Given the description of an element on the screen output the (x, y) to click on. 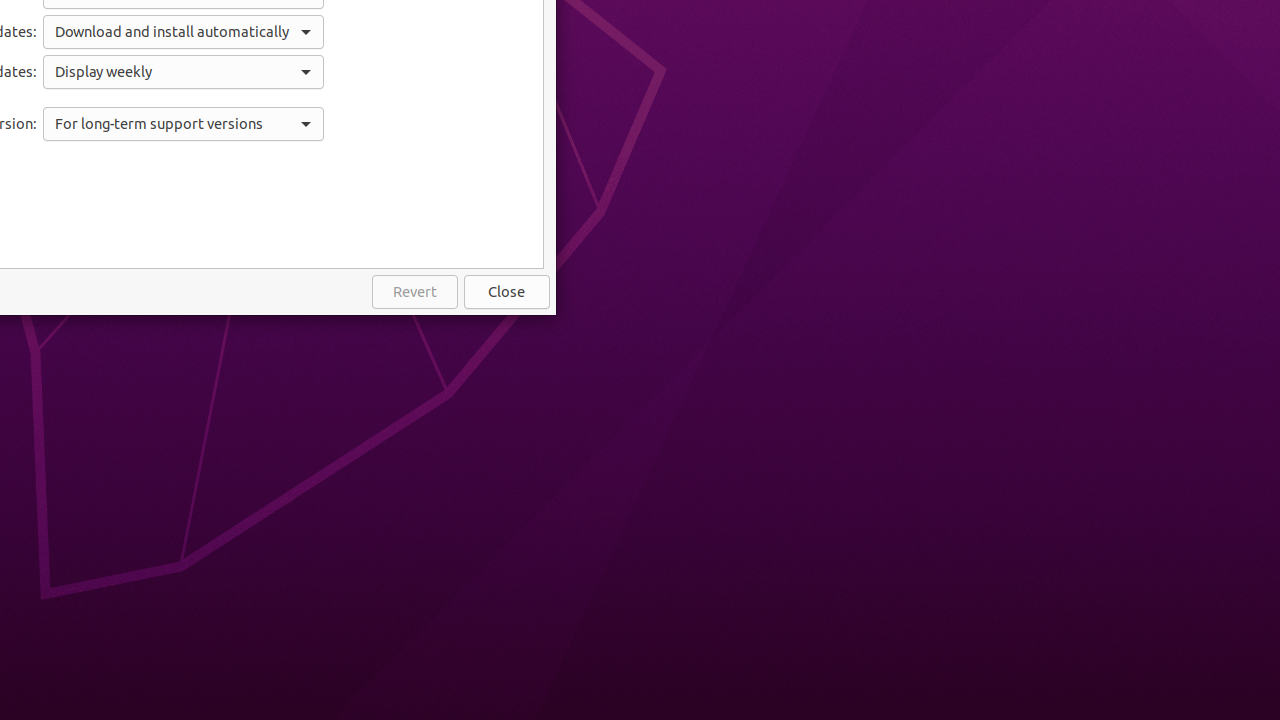
Display weekly Element type: combo-box (183, 72)
Close Element type: push-button (507, 292)
Download and install automatically Element type: combo-box (183, 31)
For long-term support versions Element type: combo-box (183, 124)
Revert Element type: push-button (415, 292)
